Given the description of an element on the screen output the (x, y) to click on. 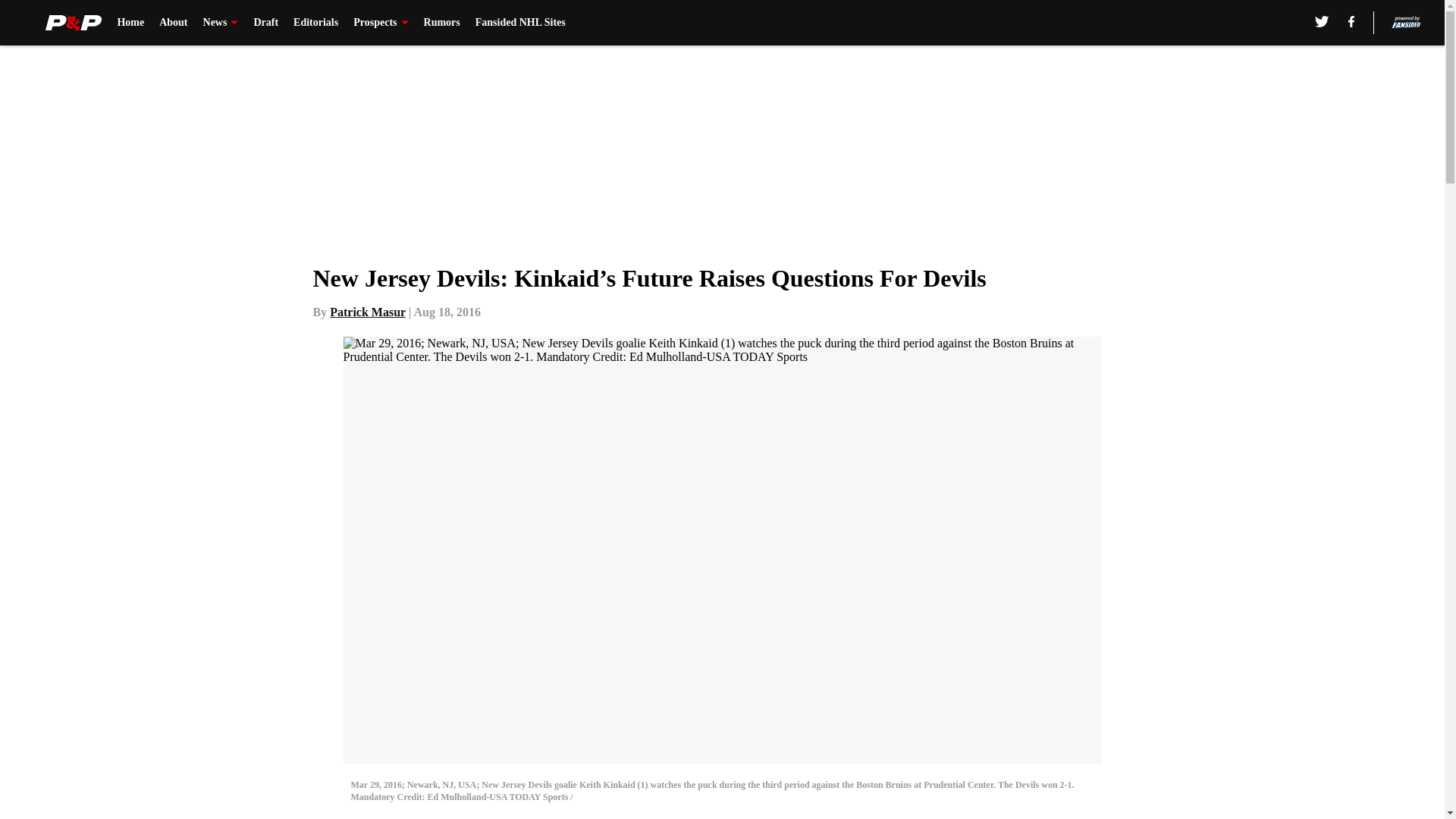
Editorials (315, 22)
About (172, 22)
Draft (265, 22)
Rumors (441, 22)
Patrick Masur (368, 311)
Fansided NHL Sites (521, 22)
Home (130, 22)
